Given the description of an element on the screen output the (x, y) to click on. 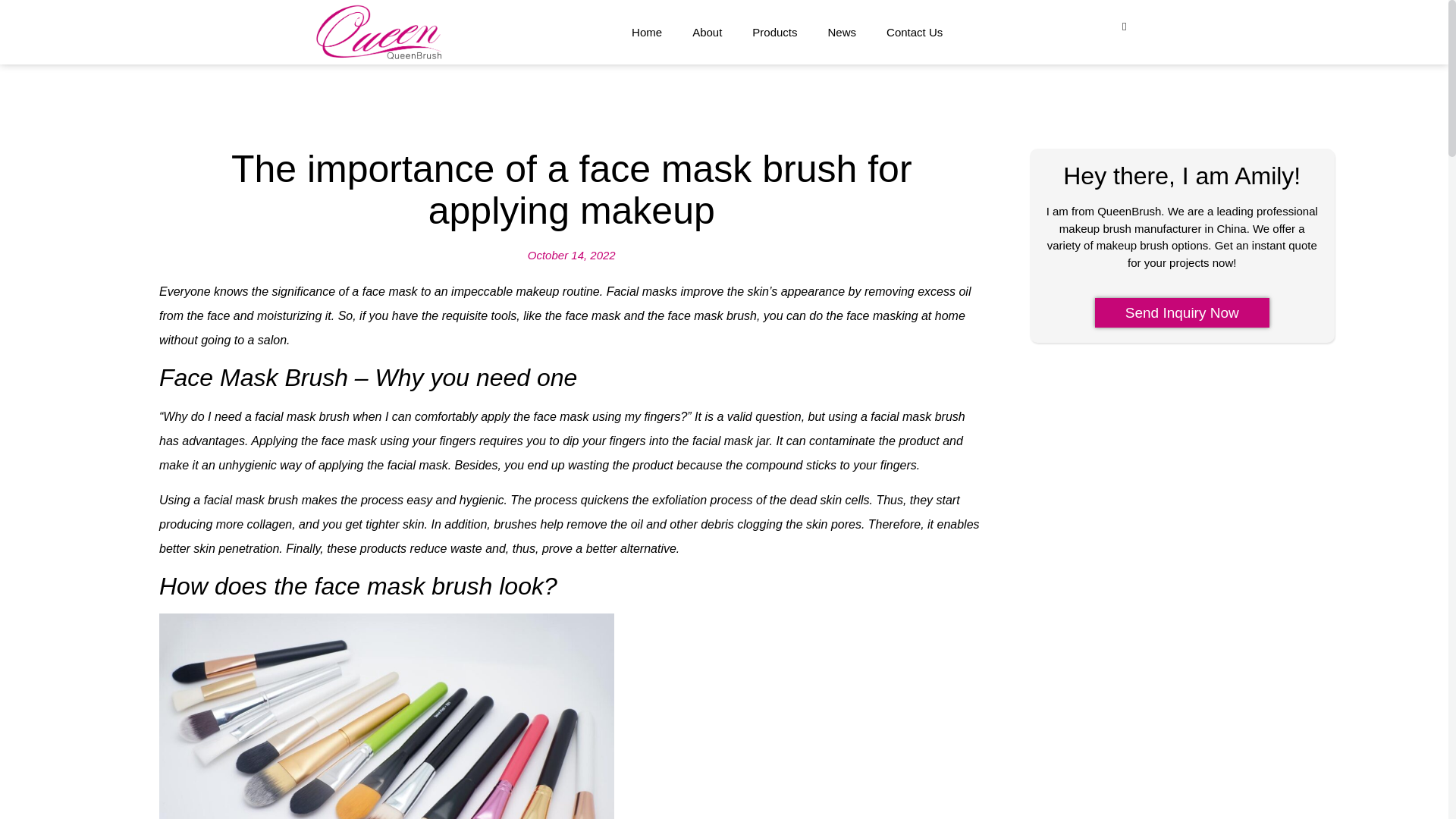
Home (646, 32)
Contact Us (914, 32)
News (842, 32)
About (706, 32)
Products (774, 32)
